Given the description of an element on the screen output the (x, y) to click on. 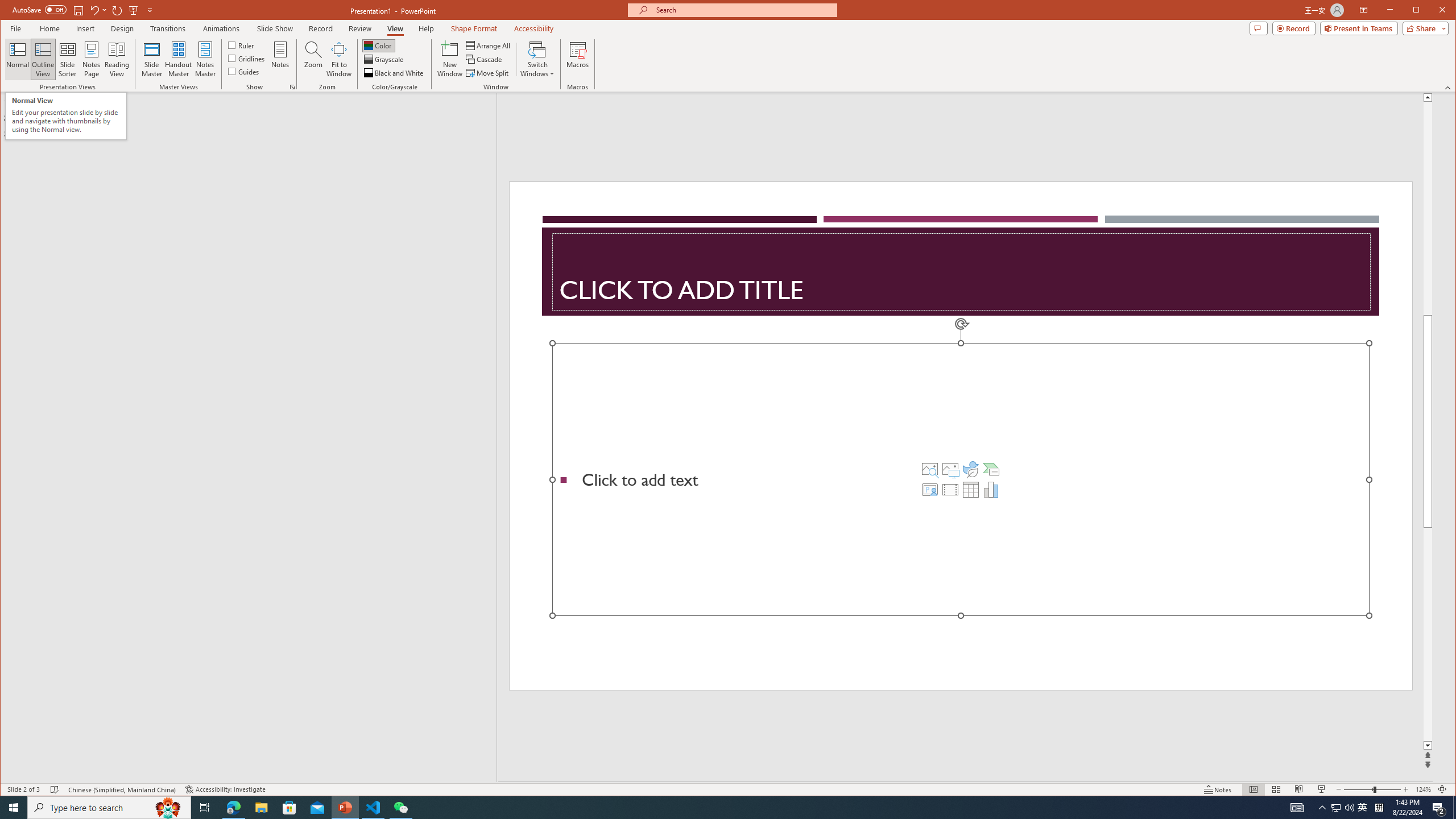
Black and White (394, 72)
Notes (279, 59)
